Given the description of an element on the screen output the (x, y) to click on. 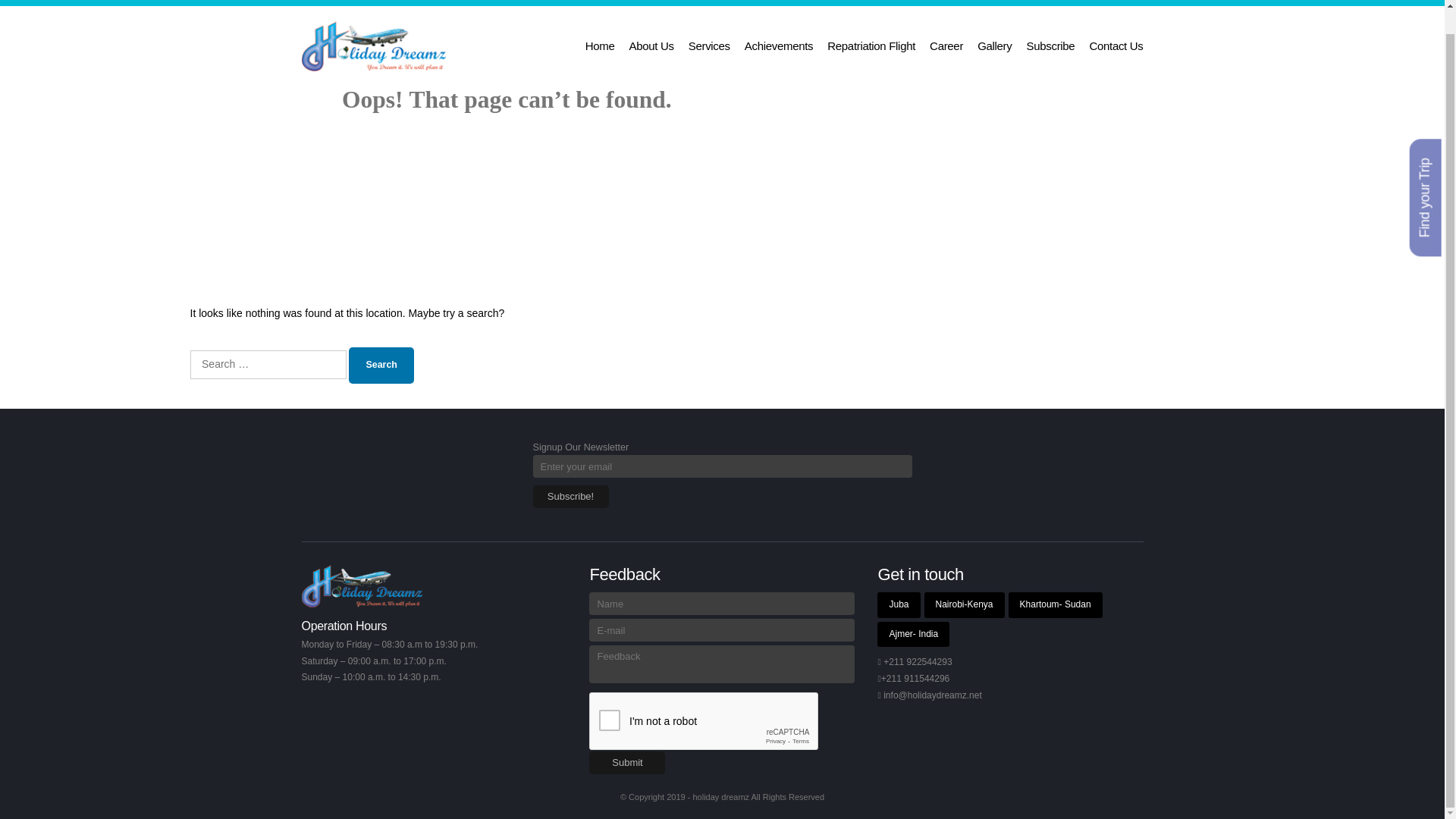
Khartoum- Sudan (1055, 605)
Search (381, 365)
Career (946, 45)
Search (381, 365)
Search (381, 365)
Repatriation Flight (871, 45)
Home (599, 45)
Submit (627, 762)
Gallery (993, 45)
Ajmer- India (913, 634)
Contact Us (1115, 45)
Subscribe! (570, 496)
reCAPTCHA (704, 721)
Juba (898, 605)
Submit (627, 762)
